Given the description of an element on the screen output the (x, y) to click on. 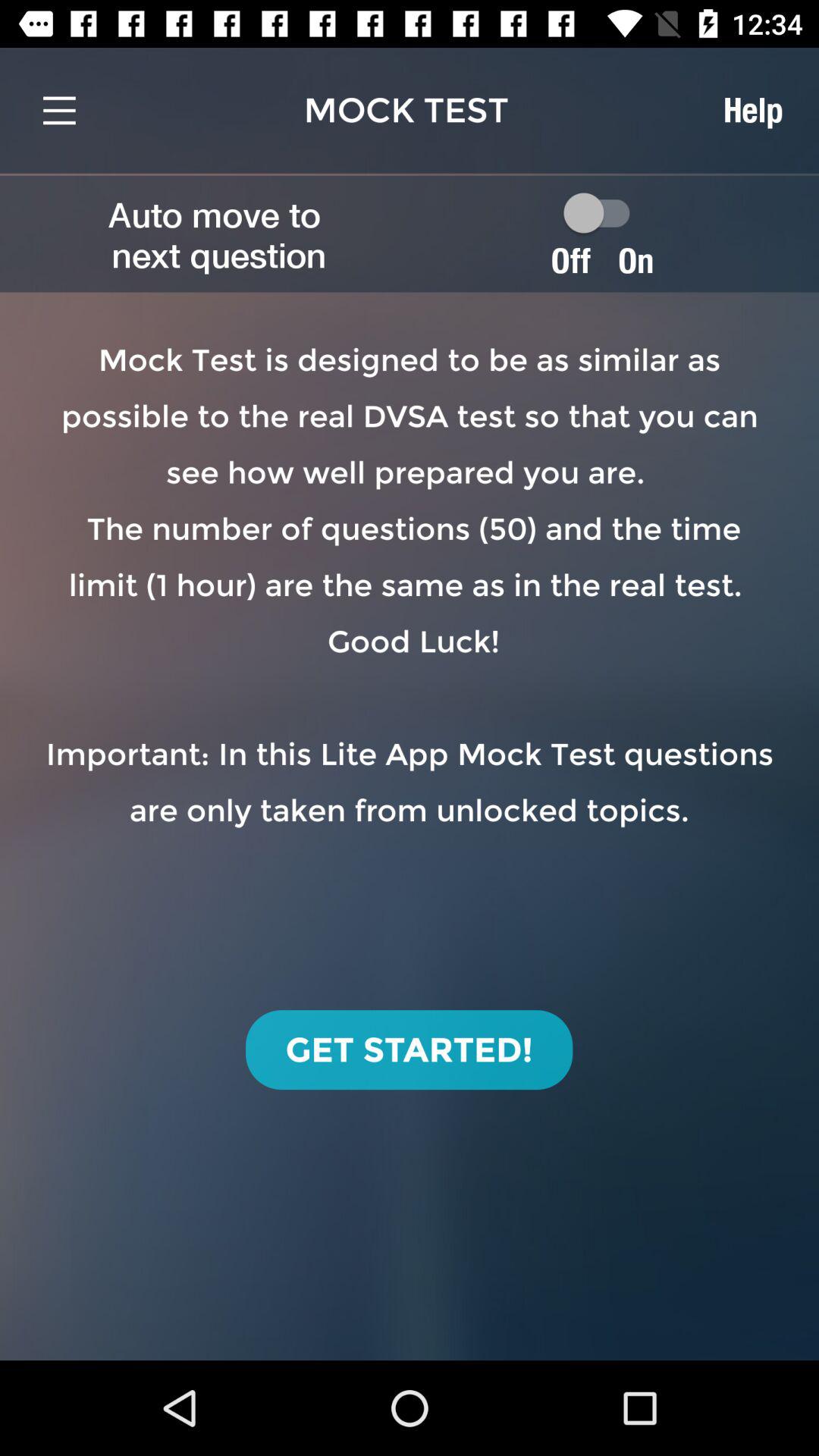
switch on (603, 212)
